Given the description of an element on the screen output the (x, y) to click on. 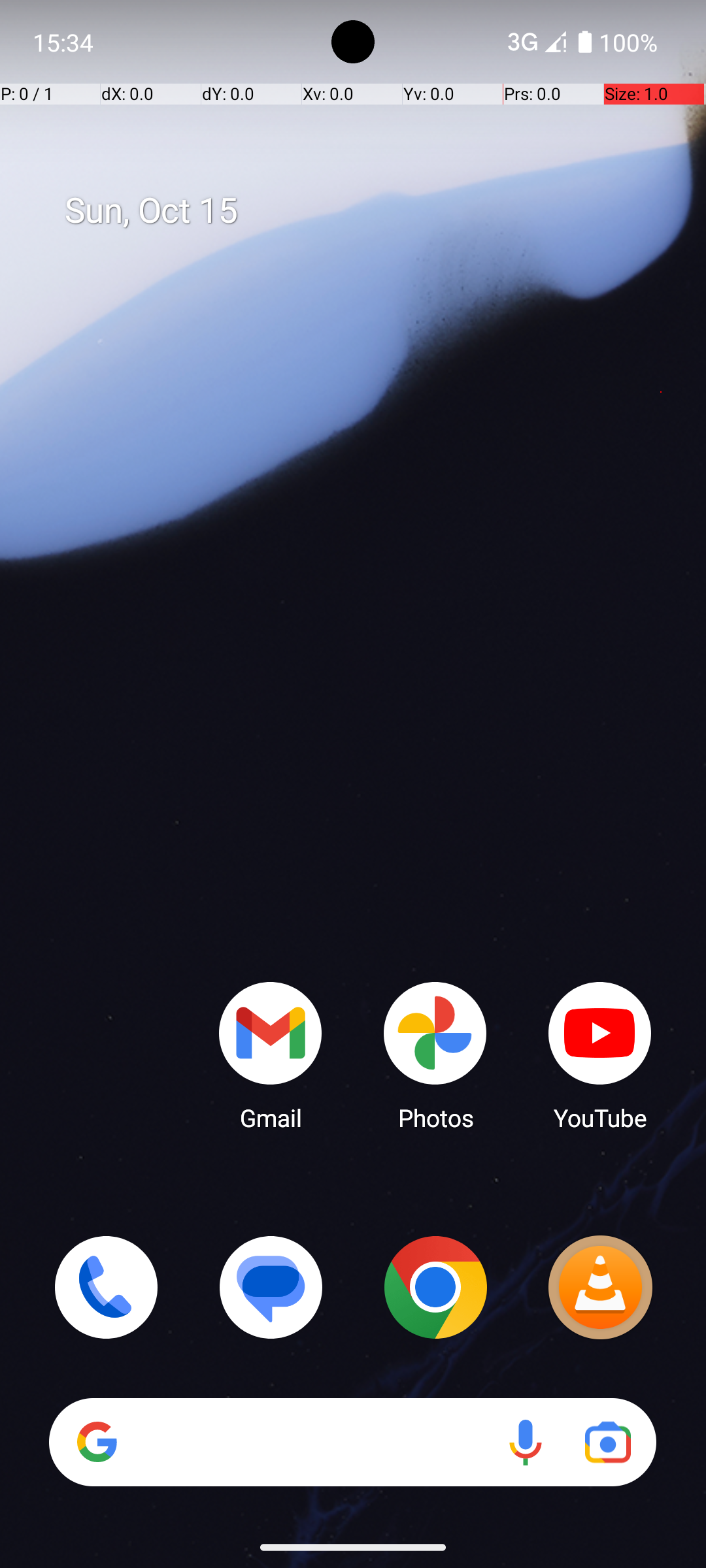
Home Element type: android.view.View (353, 804)
Phone Element type: android.widget.TextView (105, 1287)
Messages Element type: android.widget.TextView (270, 1287)
Chrome Element type: android.widget.TextView (435, 1287)
VLC Element type: android.widget.TextView (599, 1287)
Search Element type: android.widget.FrameLayout (352, 1442)
Sun, Oct 15 Element type: android.widget.TextView (366, 210)
Gmail Element type: android.widget.TextView (270, 1054)
Photos Element type: android.widget.TextView (435, 1054)
YouTube Element type: android.widget.TextView (599, 1054)
Google app Element type: android.widget.ImageView (97, 1441)
Voice search Element type: android.widget.ImageView (525, 1442)
Google Lens Element type: android.widget.ImageButton (607, 1442)
